Given the description of an element on the screen output the (x, y) to click on. 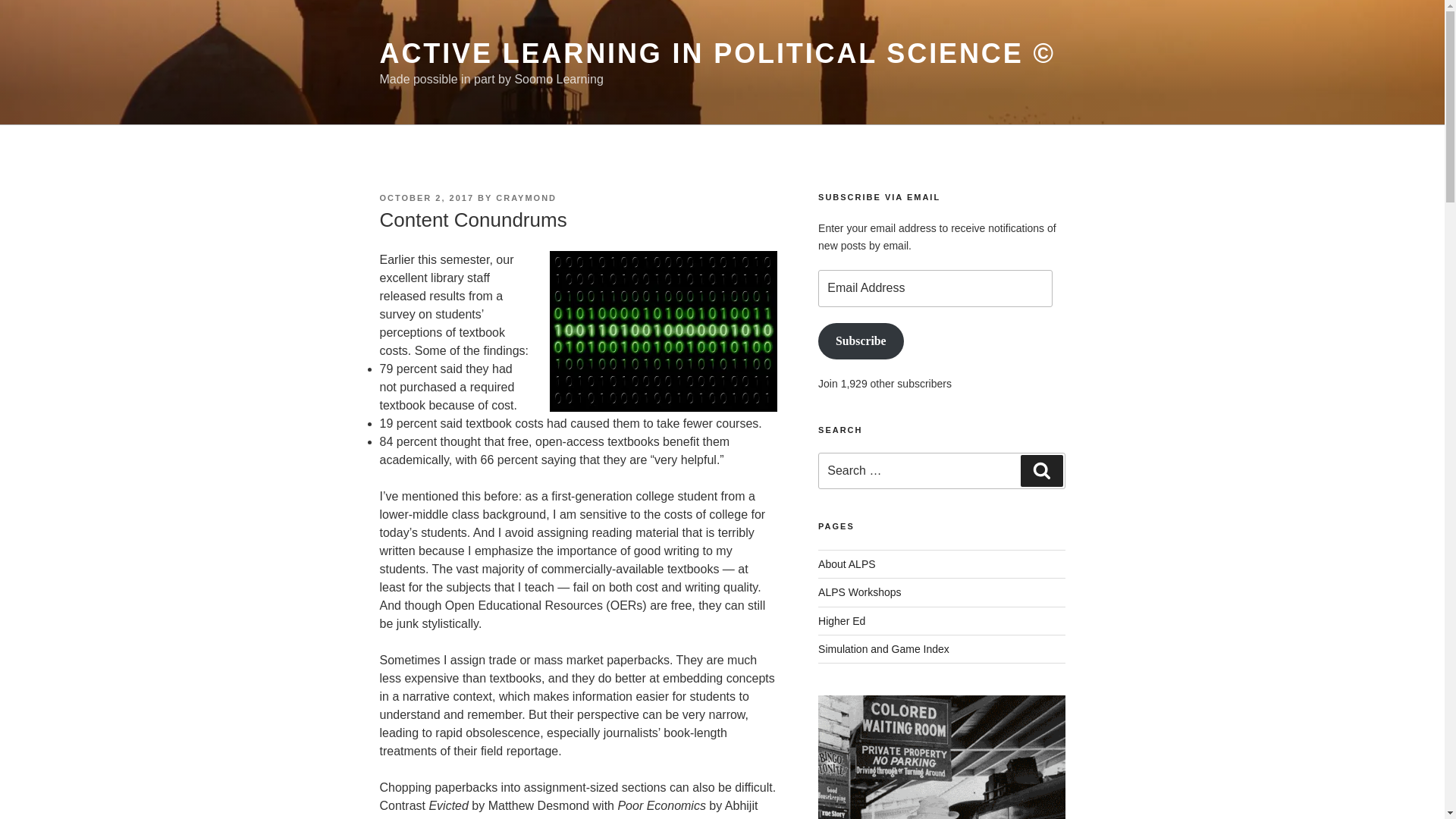
About ALPS (847, 563)
Subscribe (860, 341)
CRAYMOND (526, 197)
OCTOBER 2, 2017 (426, 197)
ALPS Workshops (859, 592)
Higher Ed (841, 620)
Simulation and Game Index (883, 648)
Search (1041, 470)
